Given the description of an element on the screen output the (x, y) to click on. 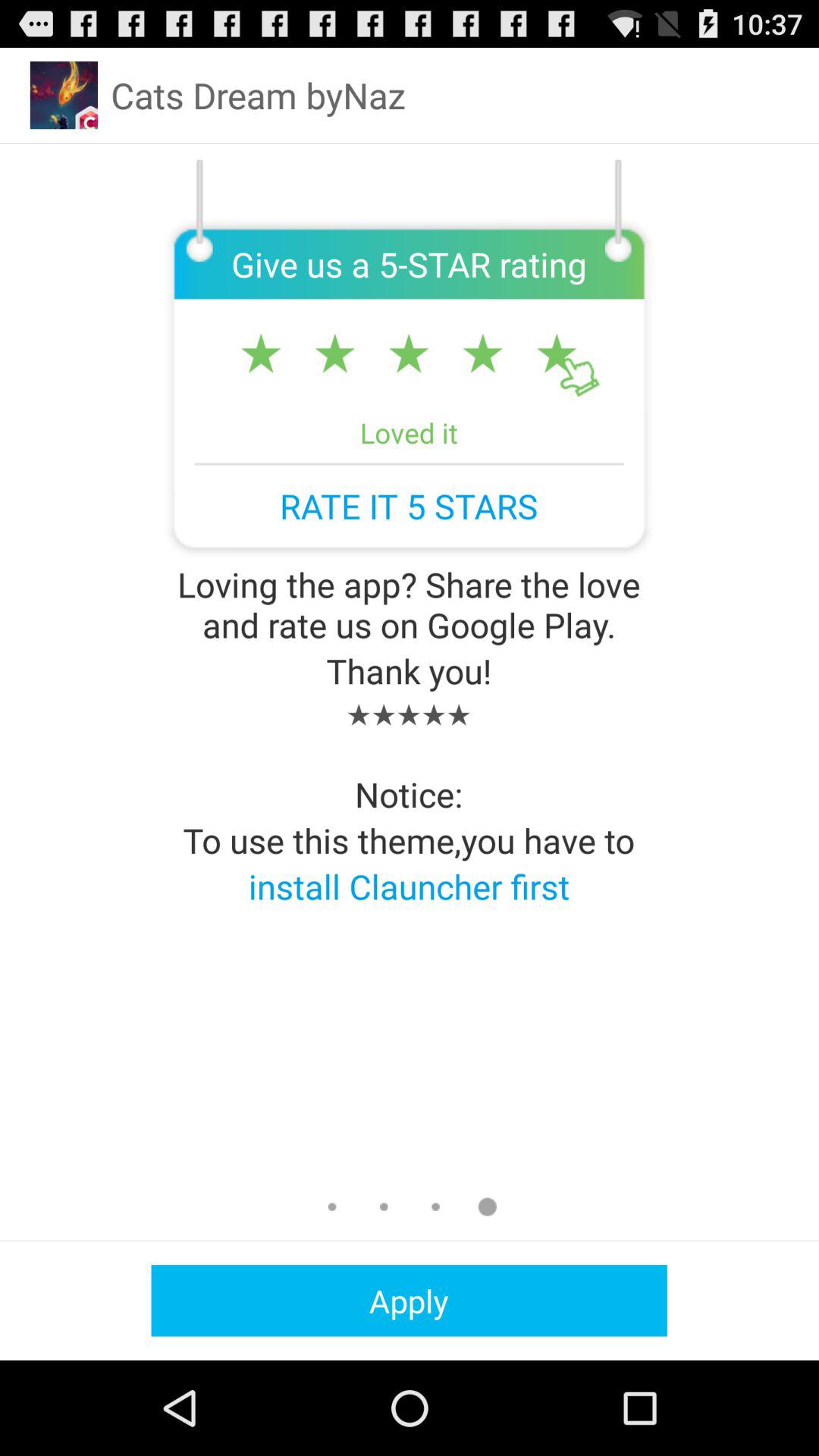
jump to the apply icon (409, 1300)
